Given the description of an element on the screen output the (x, y) to click on. 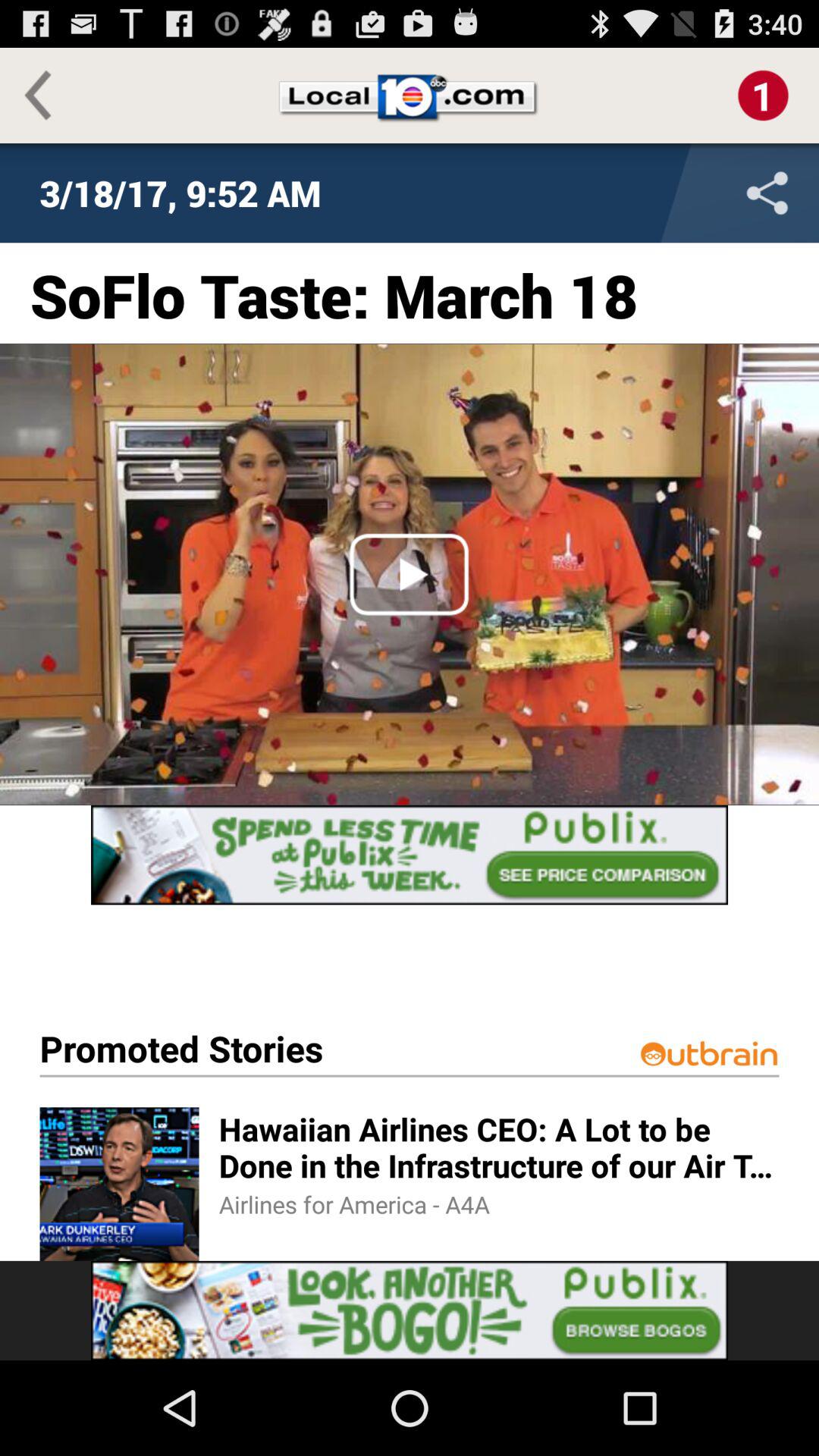
advertisement (409, 1310)
